Given the description of an element on the screen output the (x, y) to click on. 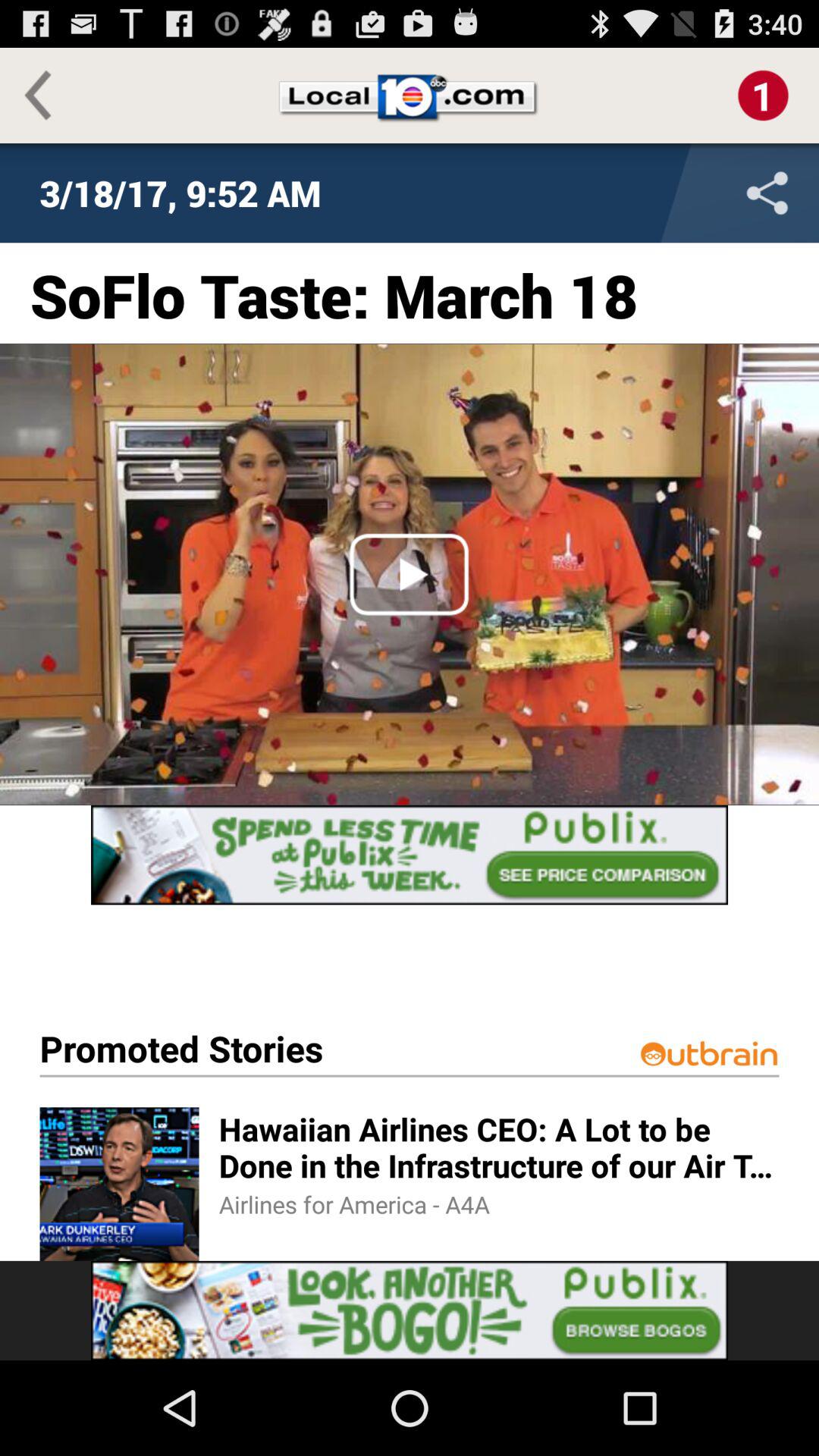
advertisement (409, 1310)
